Given the description of an element on the screen output the (x, y) to click on. 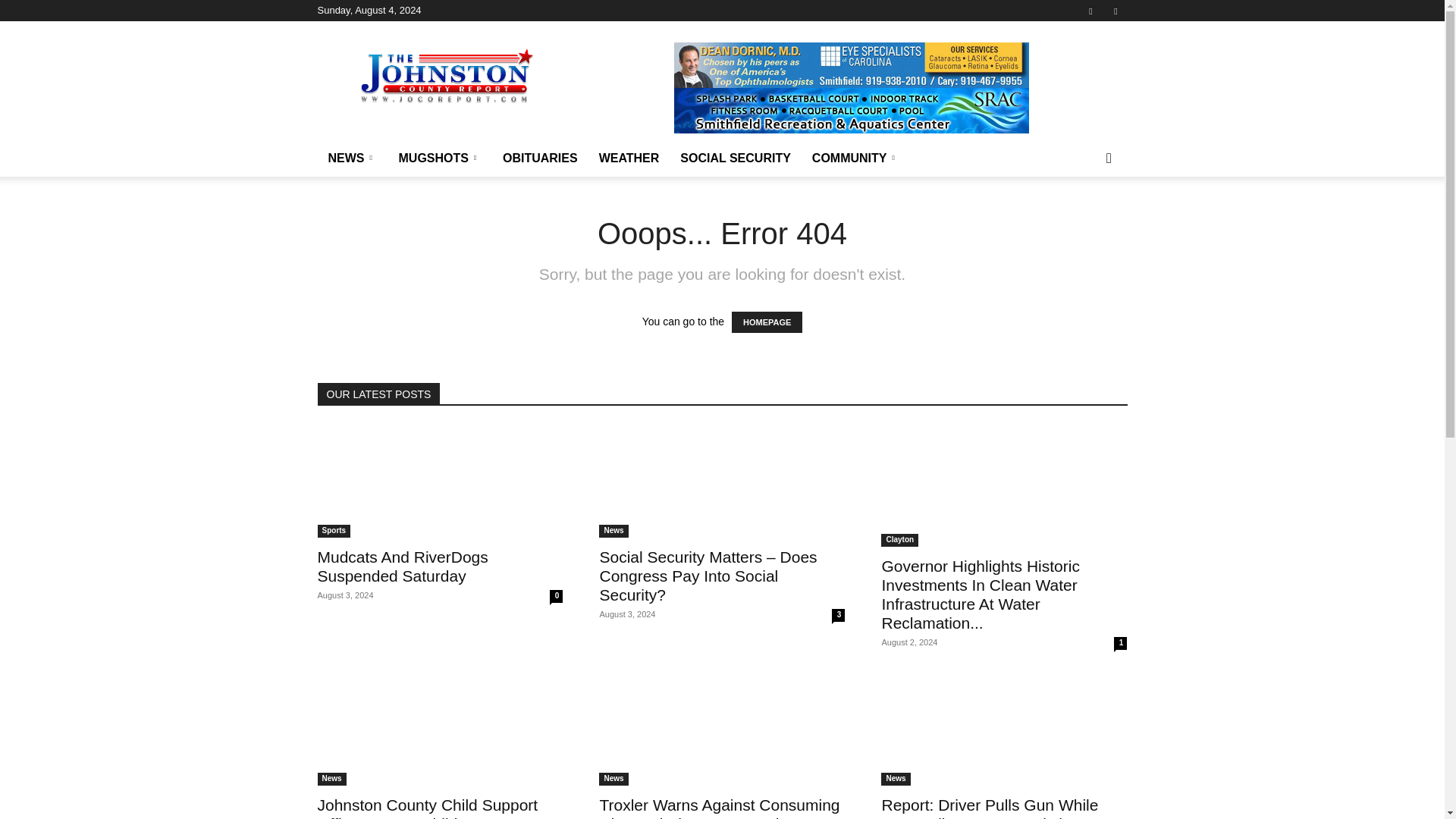
Mudcats And RiverDogs Suspended Saturday (402, 565)
Johnston County Report (445, 76)
Facebook (1090, 10)
Mudcats And RiverDogs Suspended Saturday (439, 481)
Twitter (1114, 10)
